Given the description of an element on the screen output the (x, y) to click on. 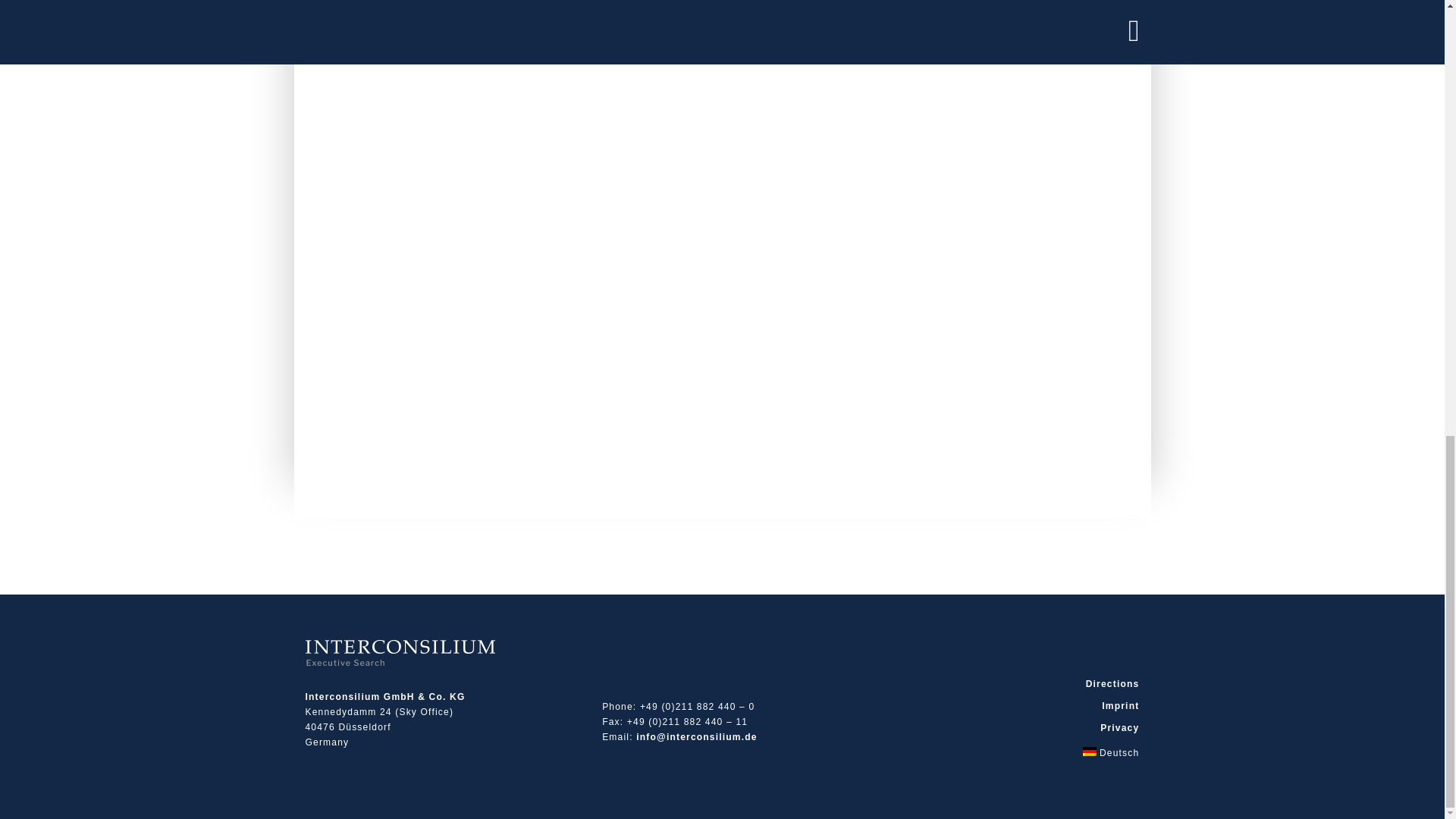
Deutsch (1010, 752)
Send (367, 445)
Deutsch (1010, 752)
Privacy (1010, 727)
Directions (1010, 682)
Imprint (1010, 705)
